Given the description of an element on the screen output the (x, y) to click on. 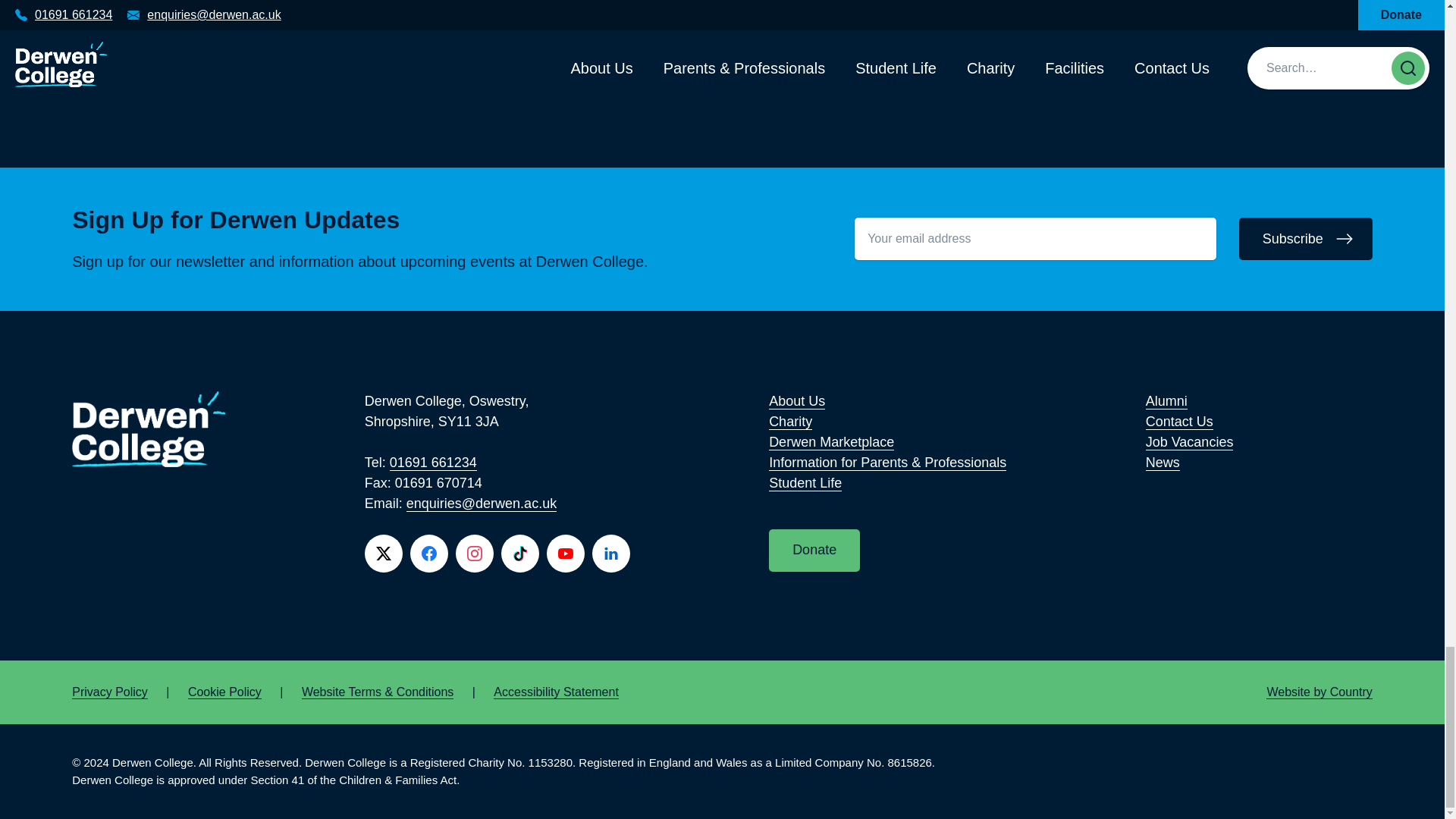
X (384, 553)
YouTube (566, 553)
LinkedIn (611, 553)
Facebook (429, 553)
TikTok (519, 553)
Instagram (474, 553)
